Given the description of an element on the screen output the (x, y) to click on. 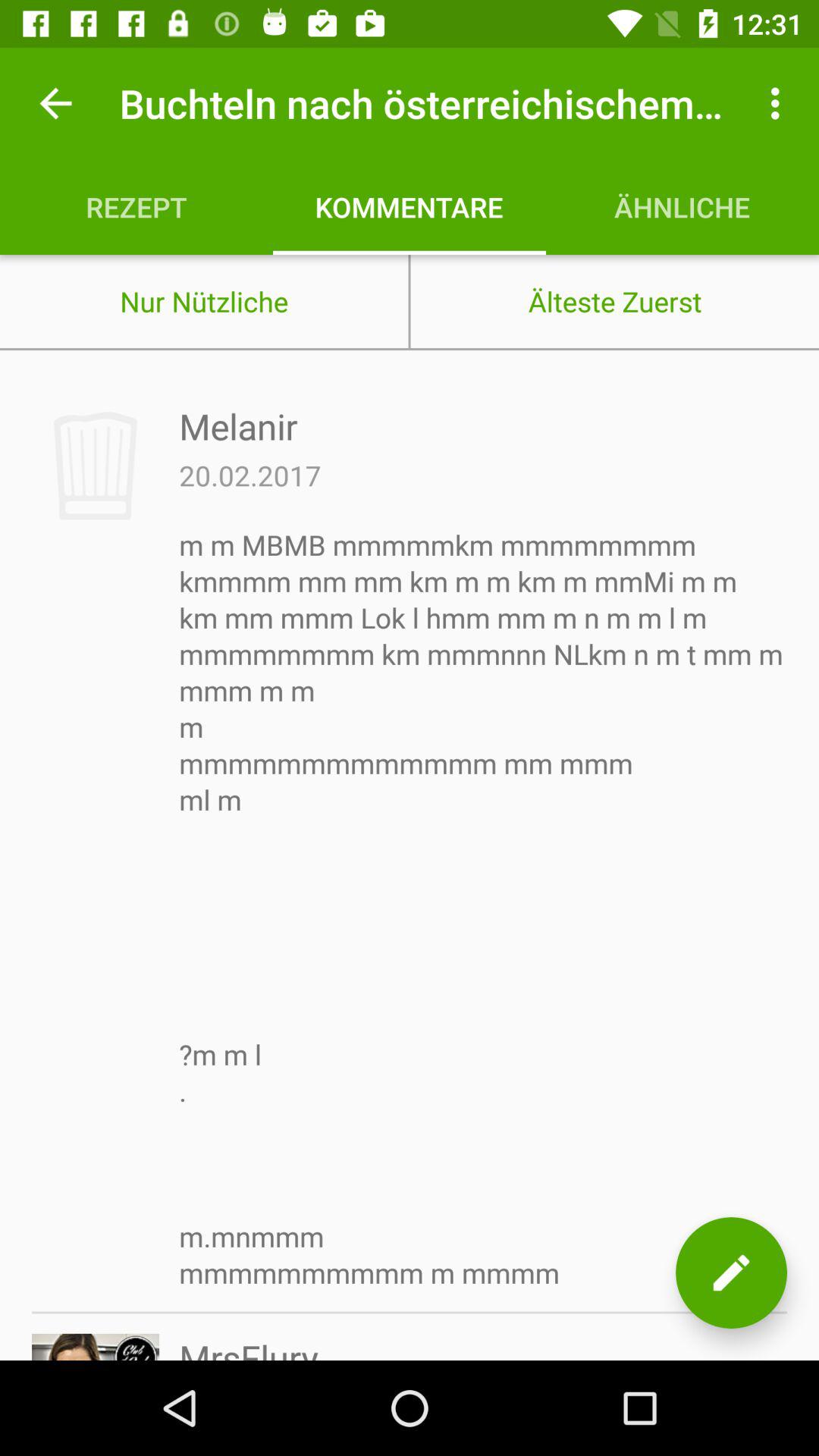
go to edit (731, 1272)
